Given the description of an element on the screen output the (x, y) to click on. 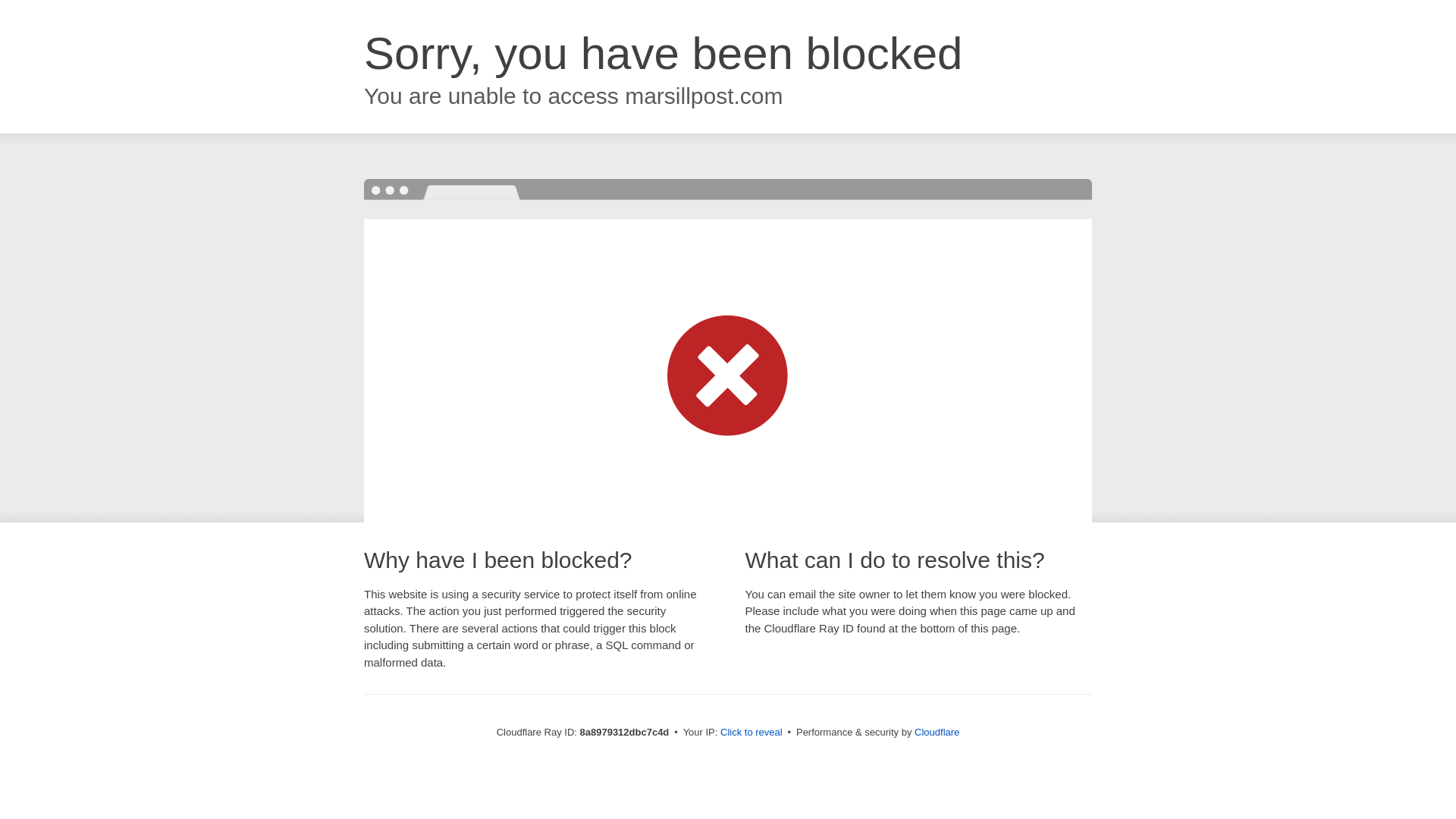
Cloudflare (936, 731)
Click to reveal (751, 732)
